Given the description of an element on the screen output the (x, y) to click on. 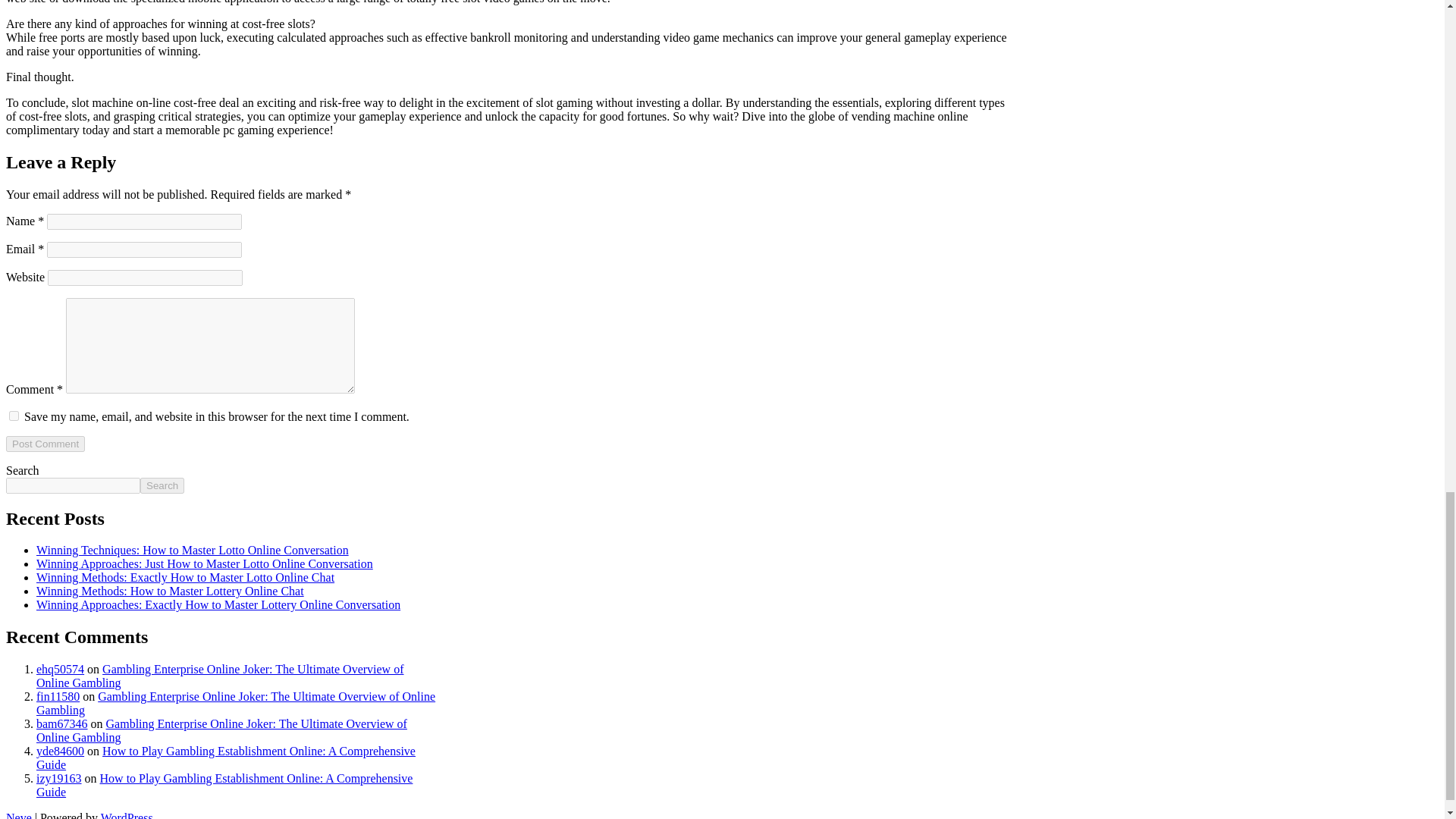
Search (161, 485)
yes (13, 415)
Post Comment (44, 443)
Winning Techniques: How to Master Lotto Online Conversation (192, 549)
yde84600 (60, 750)
ehq50574 (60, 668)
bam67346 (61, 723)
Winning Methods: How to Master Lottery Online Chat (170, 590)
Winning Methods: Exactly How to Master Lotto Online Chat (185, 576)
